Given the description of an element on the screen output the (x, y) to click on. 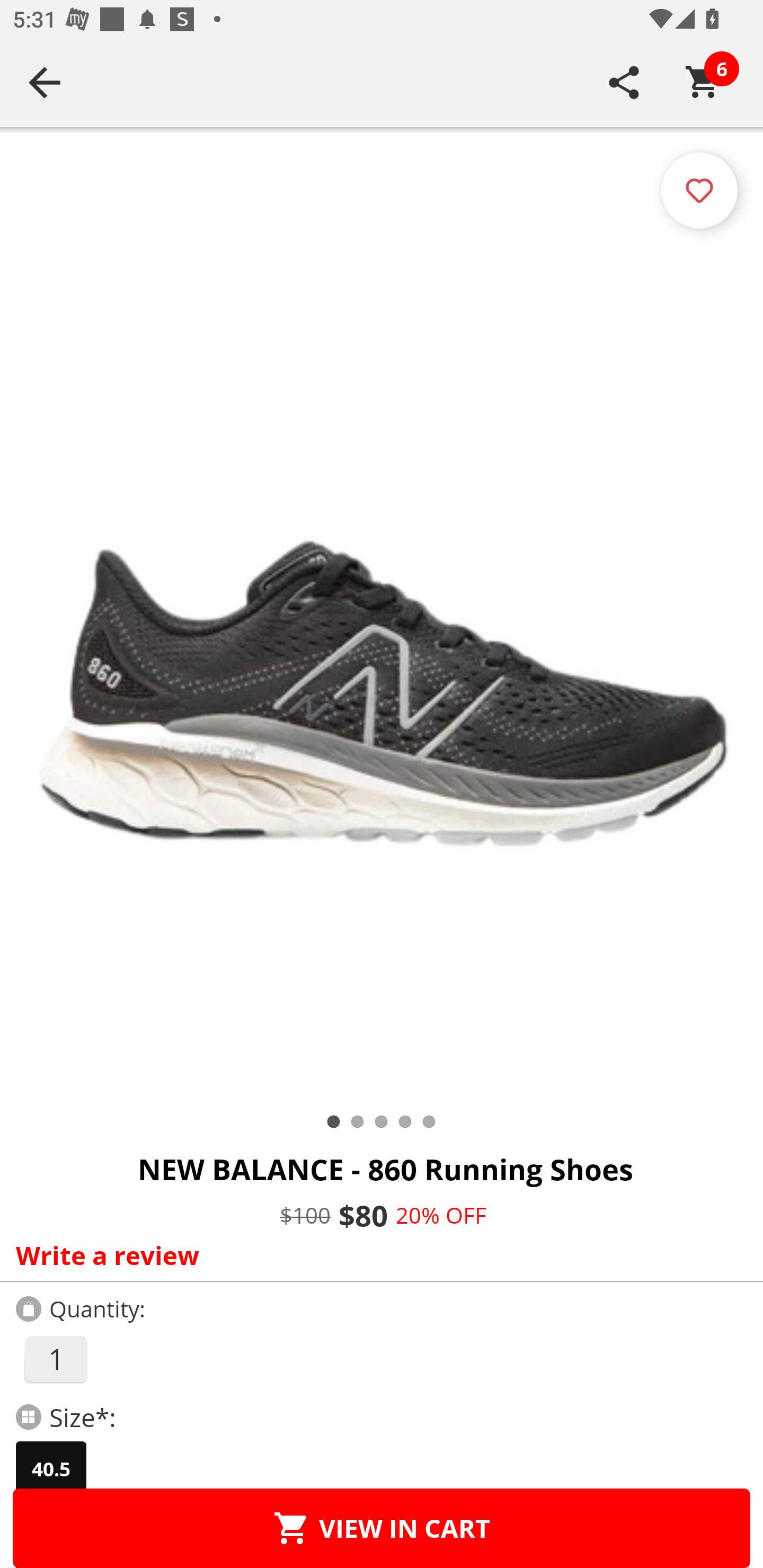
Navigate up (44, 82)
SHARE (623, 82)
Cart (703, 81)
Write a review (377, 1255)
1 (55, 1358)
40.5 (51, 1468)
VIEW IN CART (381, 1528)
